Given the description of an element on the screen output the (x, y) to click on. 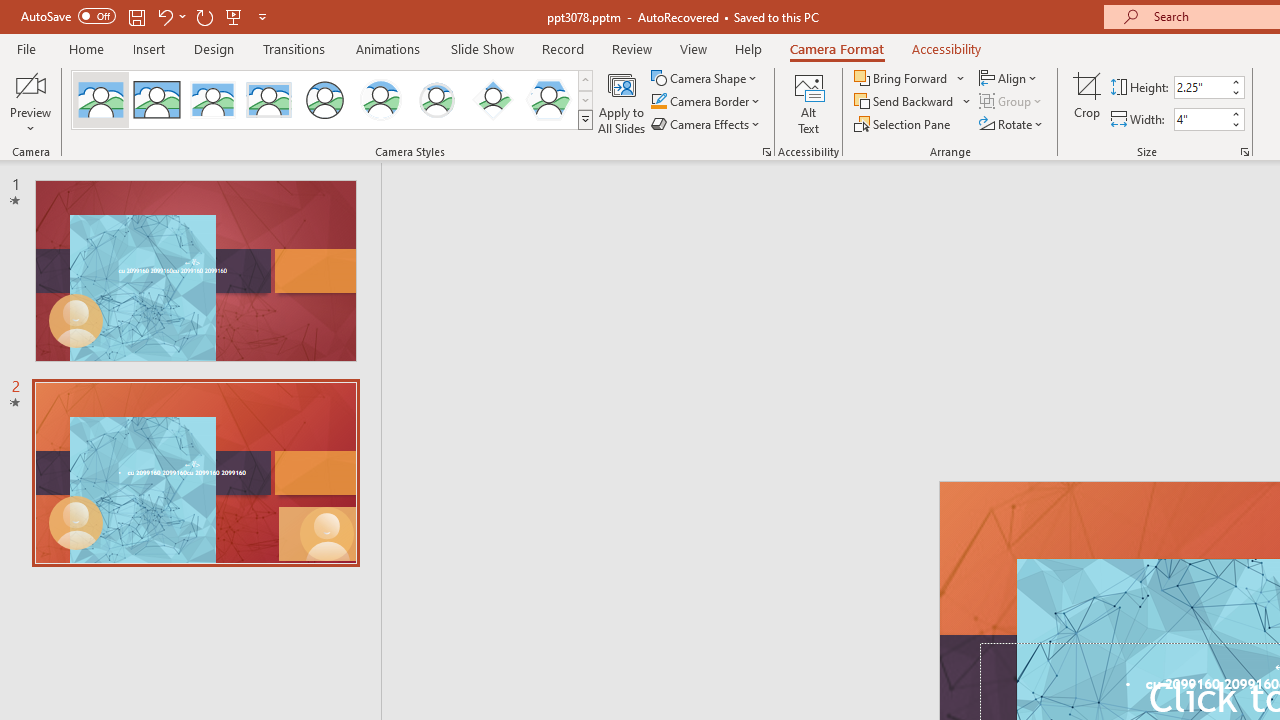
More (1235, 113)
AutomationID: CameoStylesGallery (333, 99)
Preview (30, 102)
Simple Frame Rectangle (157, 100)
Center Shadow Diamond (492, 100)
Crop (1087, 102)
Rotate (1012, 124)
Send Backward (905, 101)
Simple Frame Circle (324, 100)
Soft Edge Rectangle (268, 100)
